Given the description of an element on the screen output the (x, y) to click on. 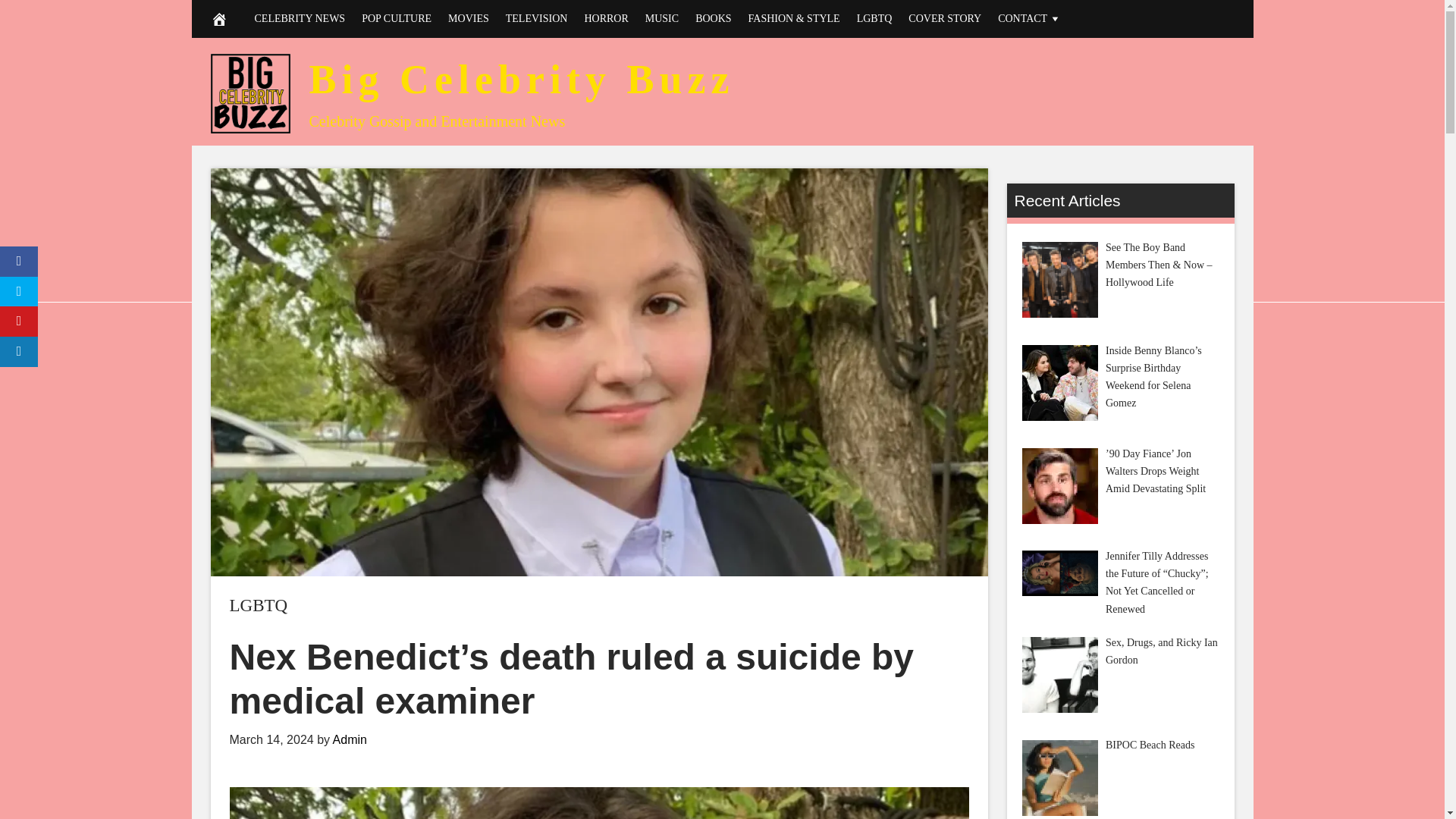
TELEVISION (536, 18)
POP CULTURE (396, 18)
LGBTQ (874, 18)
COVER STORY (944, 18)
Sex, Drugs, and Ricky Ian Gordon (1059, 674)
MUSIC (662, 18)
nex-benedict-non-binary-owasso-oklahoma-fight-death (598, 803)
MOVIES (468, 18)
BOOKS (713, 18)
BIPOC Beach Reads (1059, 777)
LGBTQ (257, 605)
CONTACT (1030, 18)
CELEBRITY NEWS (299, 18)
HORROR (605, 18)
